Given the description of an element on the screen output the (x, y) to click on. 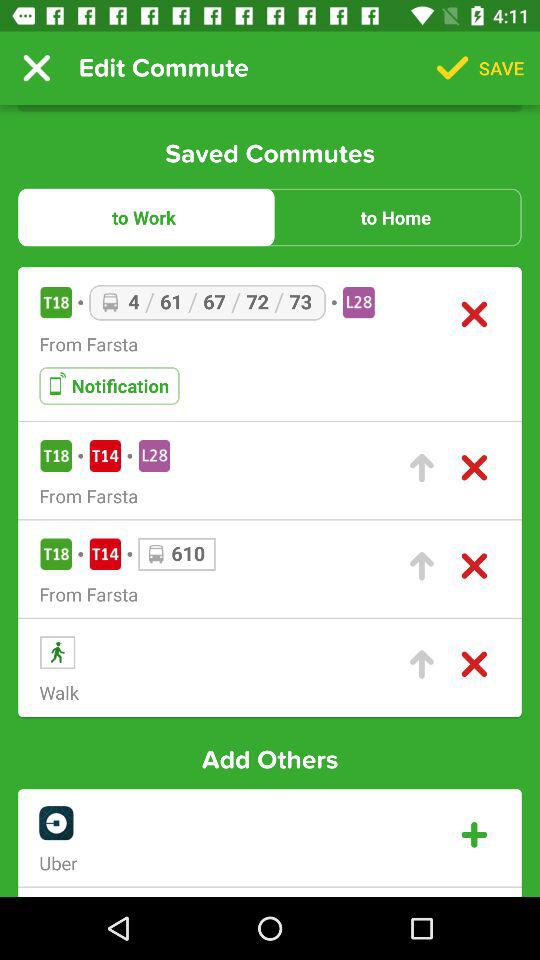
click arrow to select (421, 467)
